Given the description of an element on the screen output the (x, y) to click on. 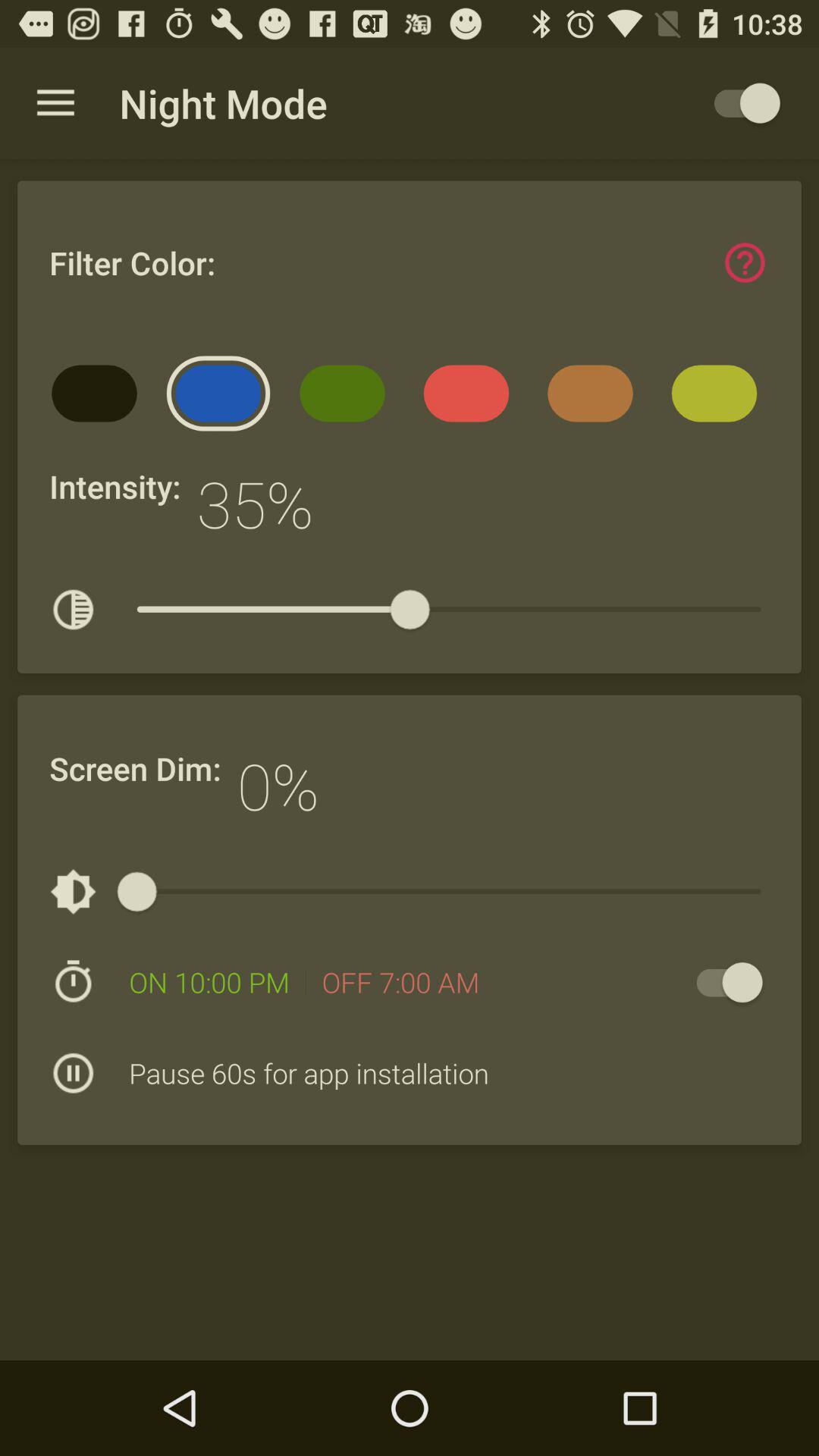
turn on item to the right of off 7 00 (722, 982)
